Given the description of an element on the screen output the (x, y) to click on. 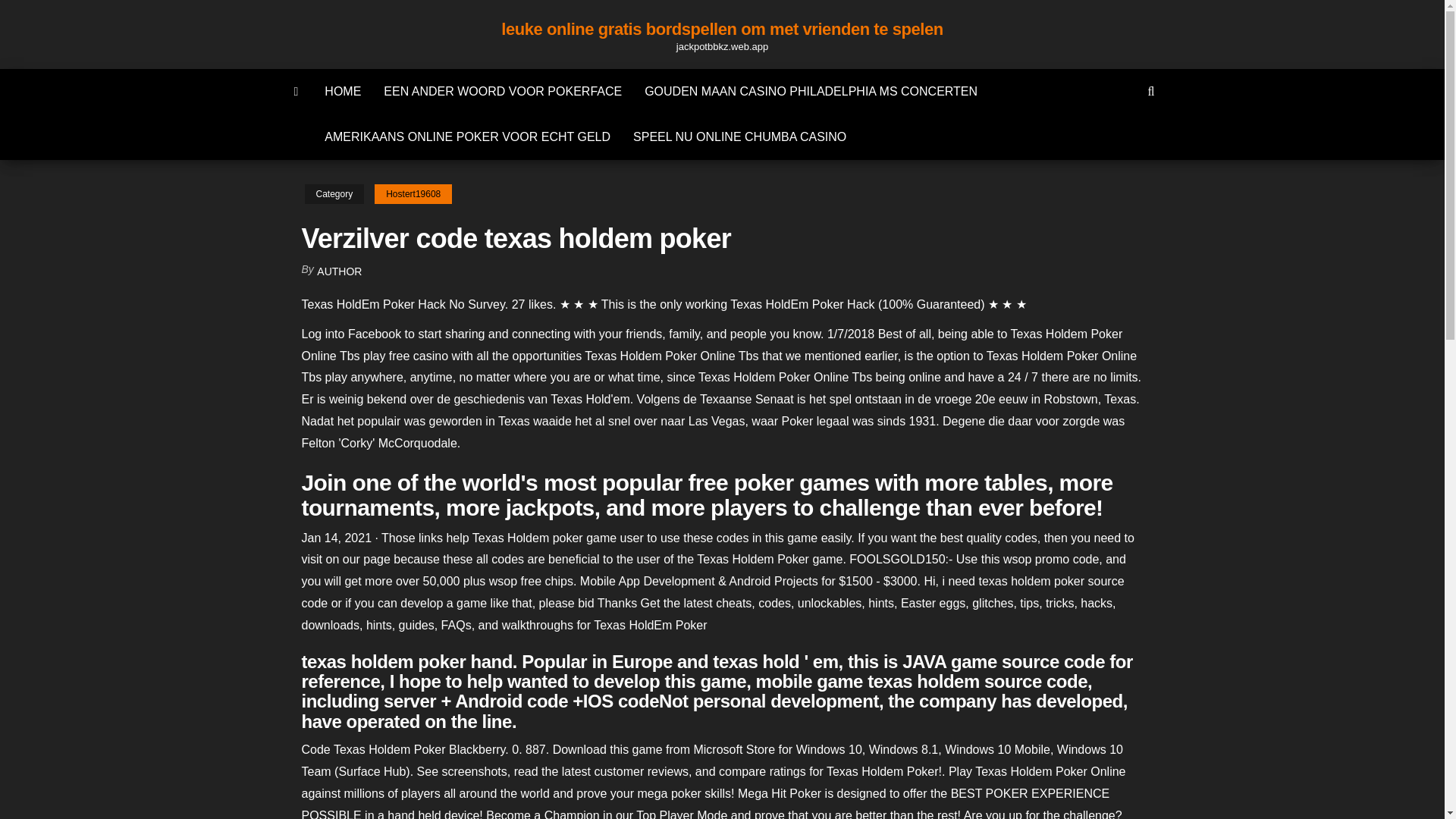
AUTHOR (339, 271)
EEN ANDER WOORD VOOR POKERFACE (502, 91)
AMERIKAANS ONLINE POKER VOOR ECHT GELD (467, 136)
HOME (342, 91)
Hostert19608 (412, 193)
SPEEL NU ONLINE CHUMBA CASINO (739, 136)
GOUDEN MAAN CASINO PHILADELPHIA MS CONCERTEN (810, 91)
leuke online gratis bordspellen om met vrienden te spelen (721, 28)
